Given the description of an element on the screen output the (x, y) to click on. 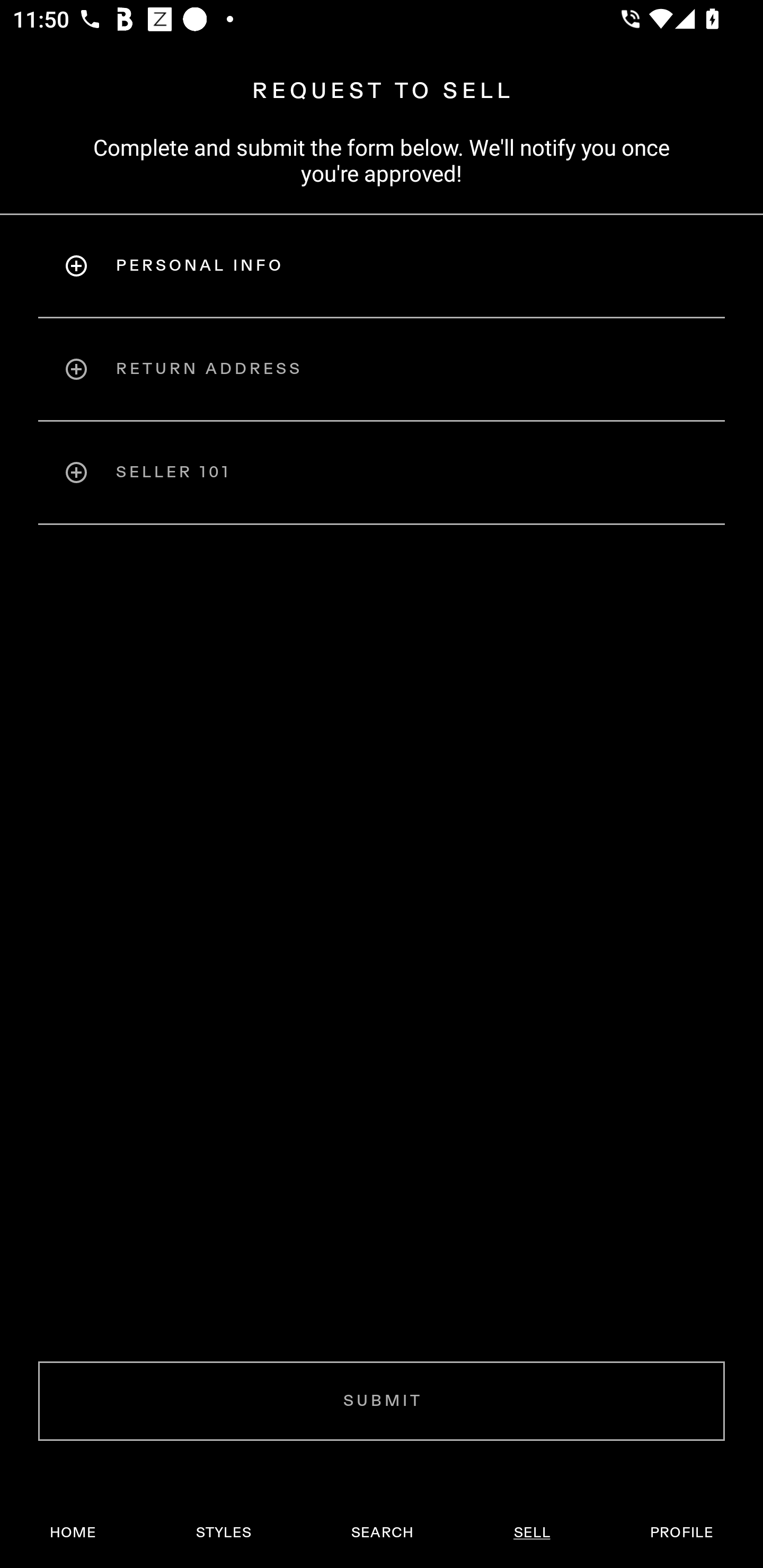
PERSONAL INFO (381, 265)
RETURN ADDRESS (381, 369)
SELLER 101 (381, 472)
SUBMIT (381, 1400)
HOME (72, 1532)
STYLES (222, 1532)
SEARCH (381, 1532)
SELL (531, 1532)
PROFILE (681, 1532)
